Given the description of an element on the screen output the (x, y) to click on. 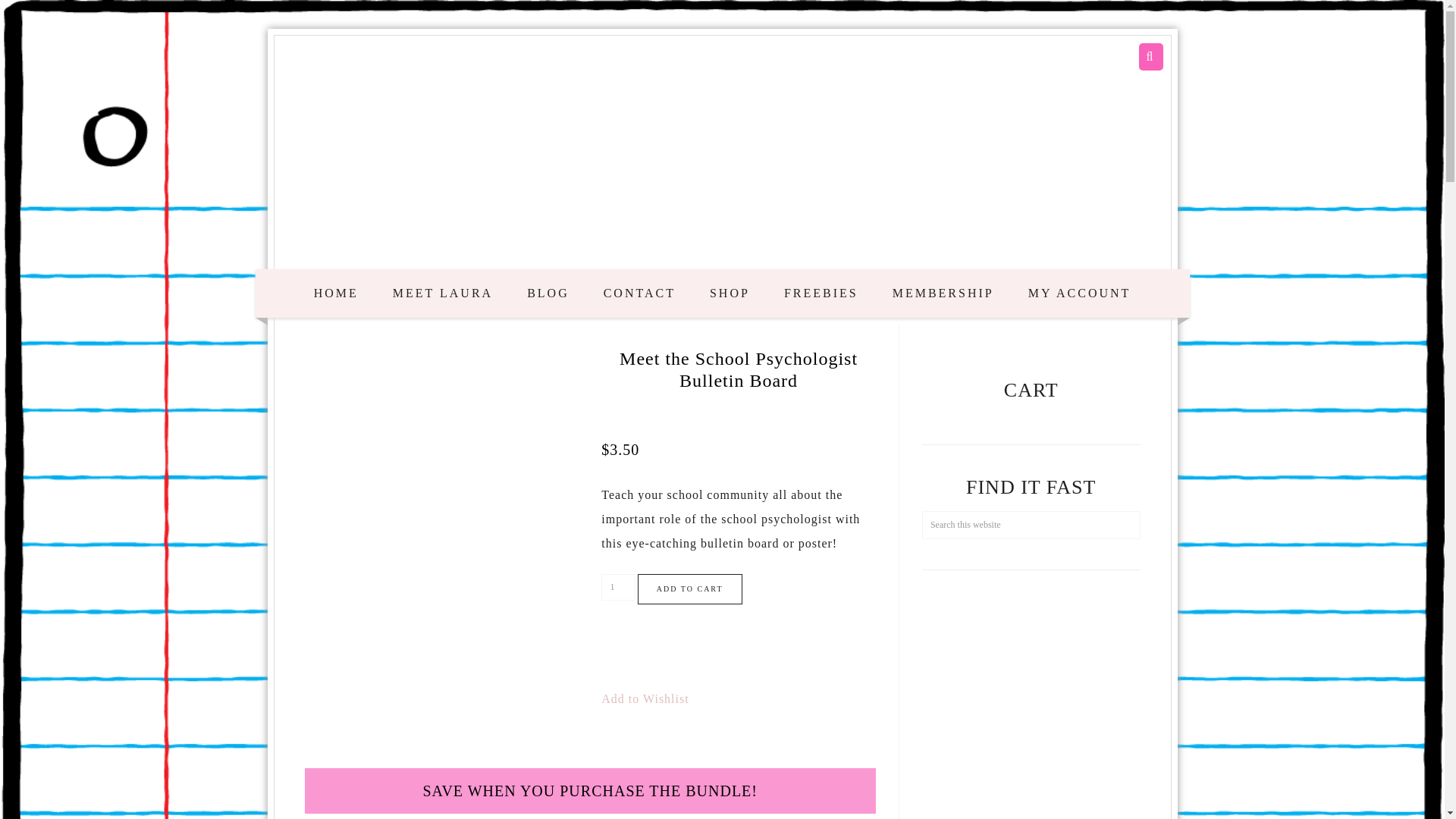
MEET LAURA (442, 292)
HOME (336, 292)
1 (617, 587)
CONTACT (639, 292)
Add to Wishlist (644, 699)
ADD TO CART (689, 589)
BLOG (548, 292)
MY ACCOUNT (1080, 292)
